Given the description of an element on the screen output the (x, y) to click on. 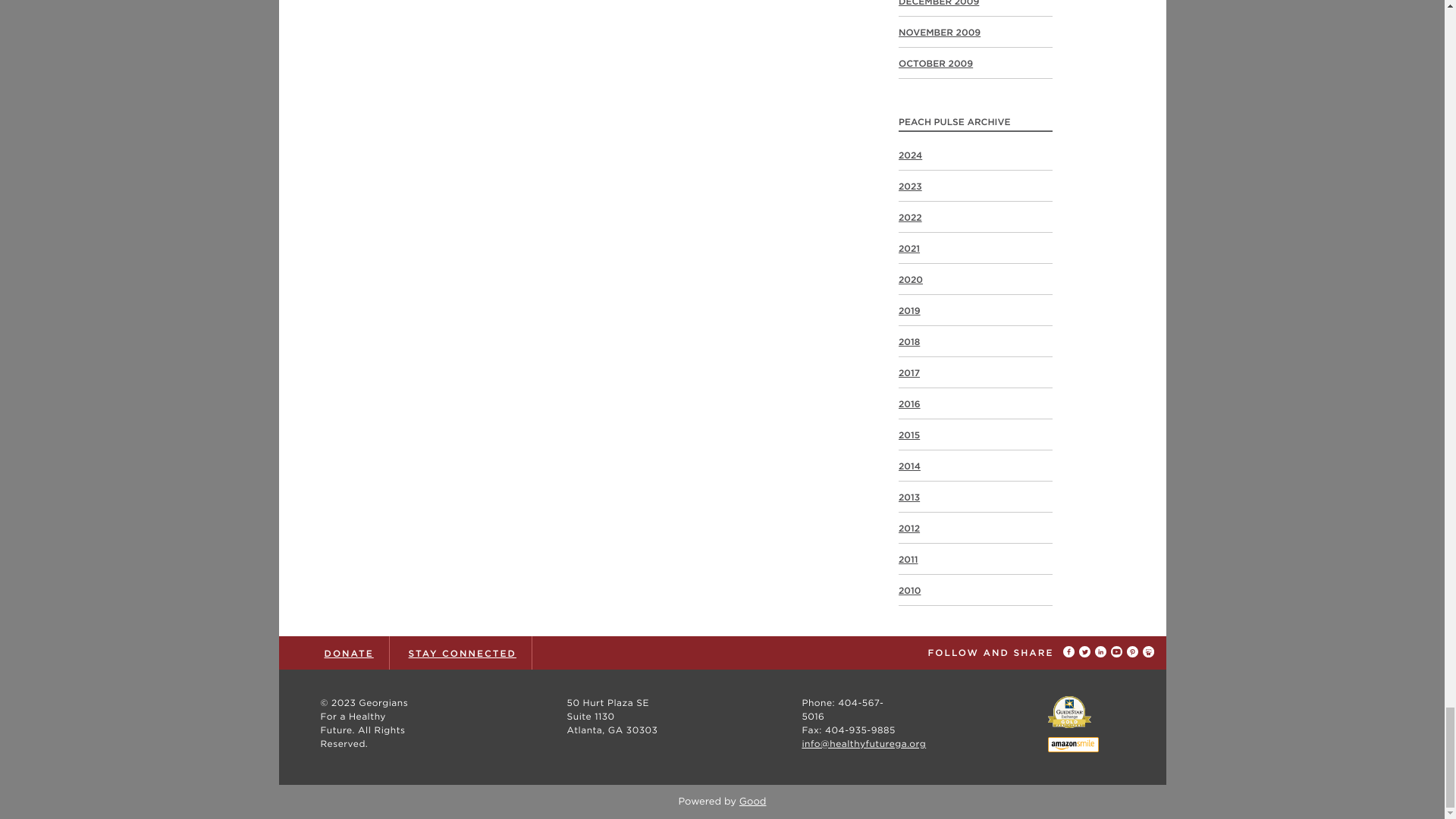
Share on pinterest (1134, 652)
Share on facebook (1070, 652)
Share on twitter (1086, 652)
Share on linkedin (1102, 652)
Good Agency - WordPress Agency for Nonprofits (753, 801)
Share on youtube (1117, 652)
